Given the description of an element on the screen output the (x, y) to click on. 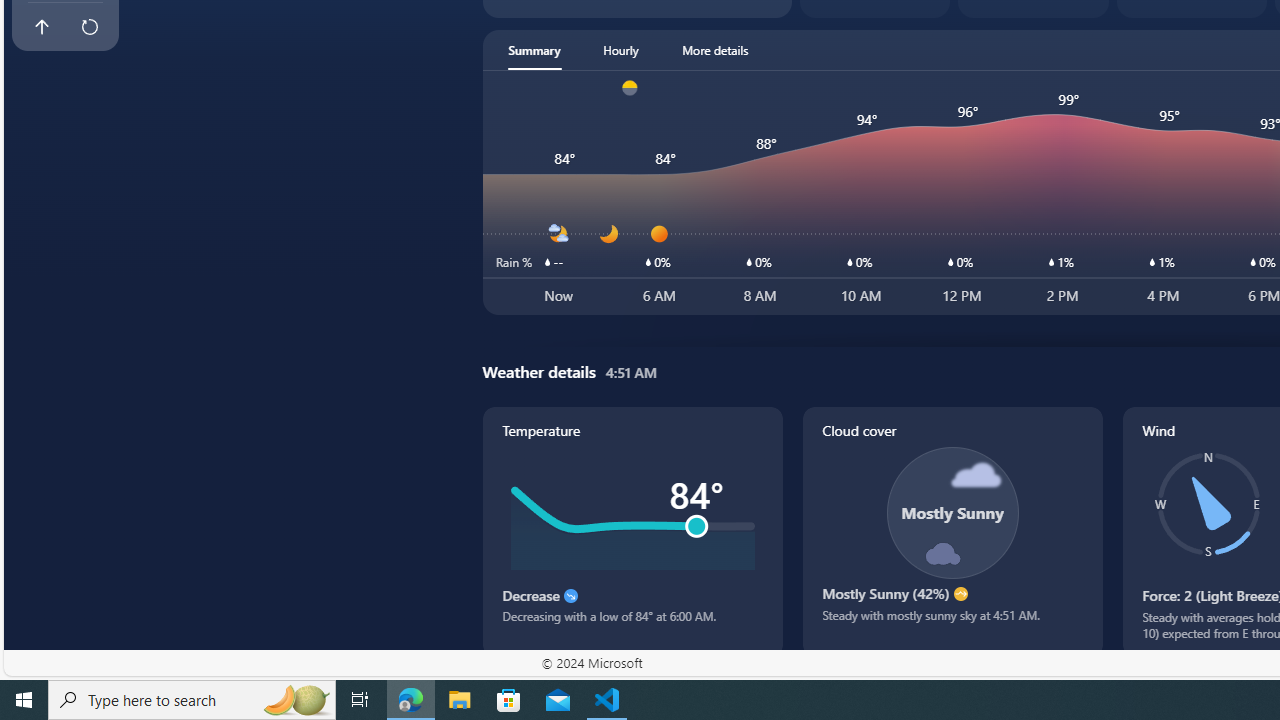
More details (715, 49)
Temperature (632, 531)
Back to top (41, 26)
Cloud cover (952, 531)
Steady with mostly sunny sky at 4:51 AM. (951, 622)
Hourly (620, 49)
Decrease (570, 595)
Class: cloudCoverSvg-DS-ps0R9q (951, 512)
Refresh this page (89, 26)
Summary (534, 49)
